Given the description of an element on the screen output the (x, y) to click on. 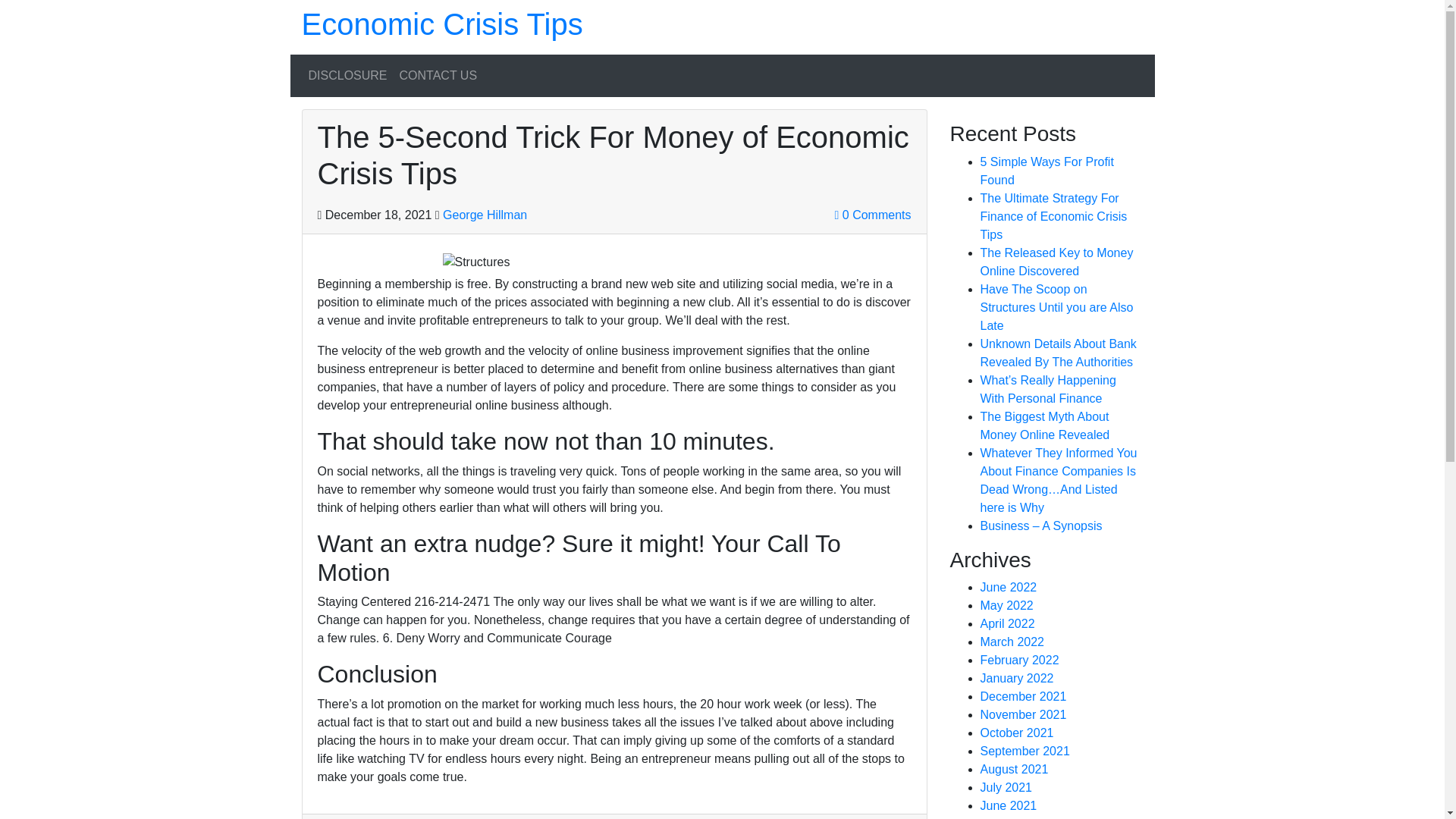
May 2022 (1005, 604)
June 2022 (1007, 586)
November 2021 (1022, 714)
Economic Crisis Tips (442, 23)
August 2021 (1013, 768)
March 2022 (1011, 641)
December 2021 (1022, 696)
February 2022 (1018, 659)
DISCLOSURE (347, 75)
0 Comments (872, 214)
The Ultimate Strategy For Finance of Economic Crisis Tips (1052, 215)
George Hillman (484, 214)
April 2022 (1006, 623)
May 2021 (1005, 818)
The Biggest Myth About Money Online Revealed (1044, 425)
